Given the description of an element on the screen output the (x, y) to click on. 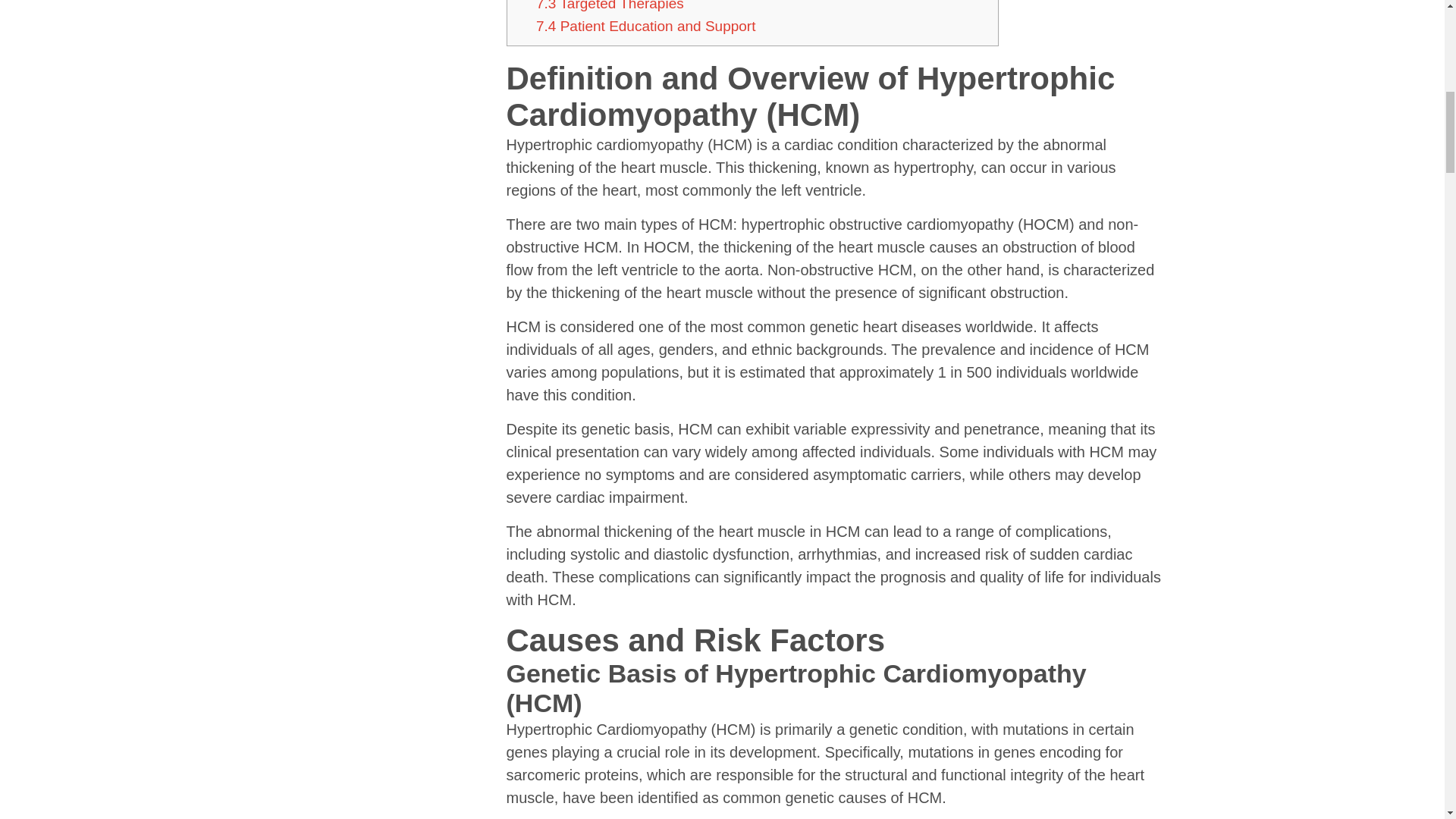
7.3 Targeted Therapies (609, 5)
7.4 Patient Education and Support (645, 26)
